Given the description of an element on the screen output the (x, y) to click on. 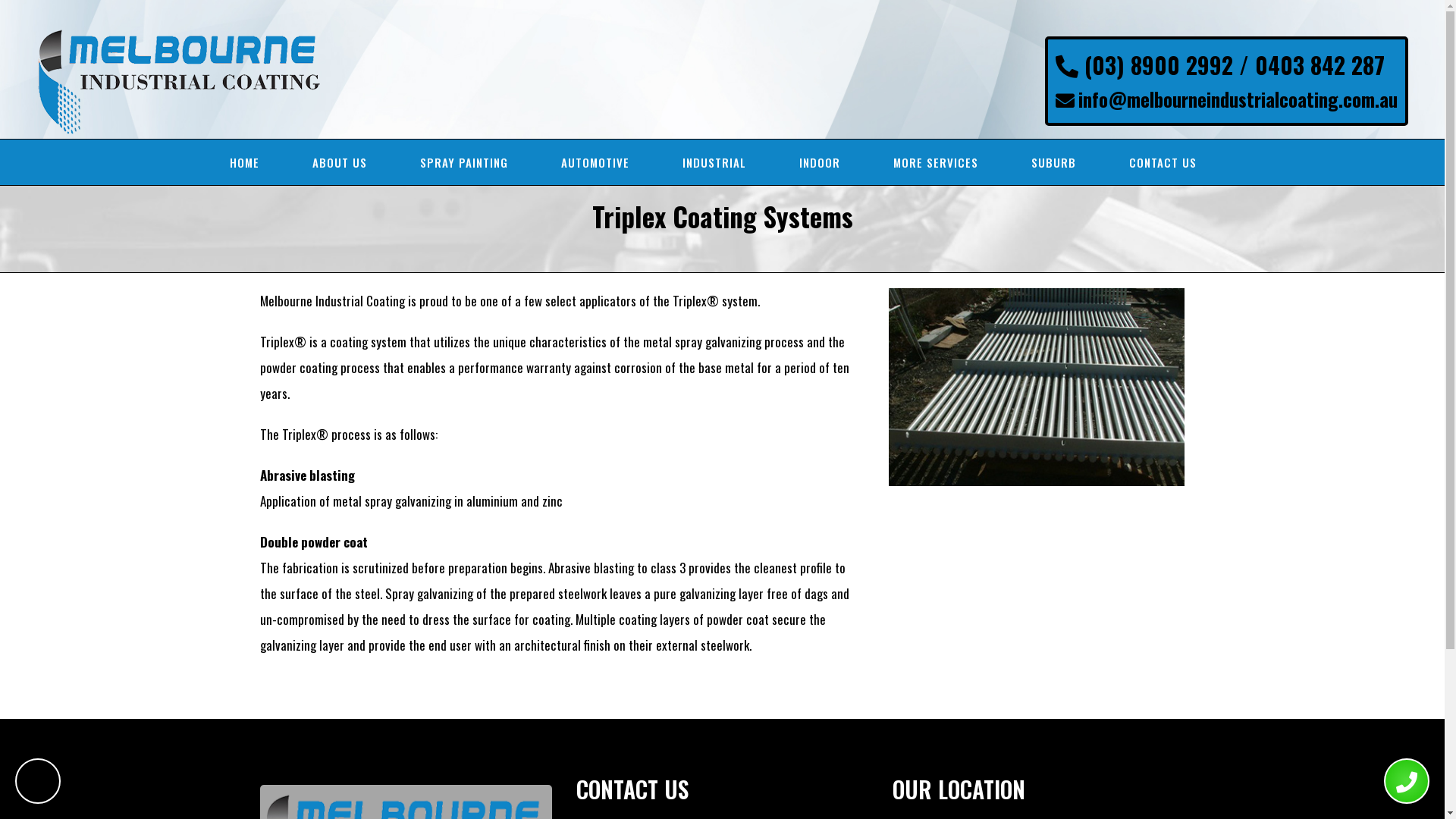
info@melbourneindustrialcoating.com.au Element type: text (1237, 98)
0403 842 287 Element type: text (1319, 64)
ABOUT US Element type: text (338, 162)
INDOOR Element type: text (818, 162)
SUBURB Element type: text (1052, 162)
INDUSTRIAL Element type: text (713, 162)
MORE SERVICES Element type: text (934, 162)
AUTOMOTIVE Element type: text (594, 162)
CONTACT US Element type: text (1162, 162)
HOME Element type: text (244, 162)
(03) 8900 2992 / Element type: text (1155, 64)
SPRAY PAINTING Element type: text (463, 162)
